Given the description of an element on the screen output the (x, y) to click on. 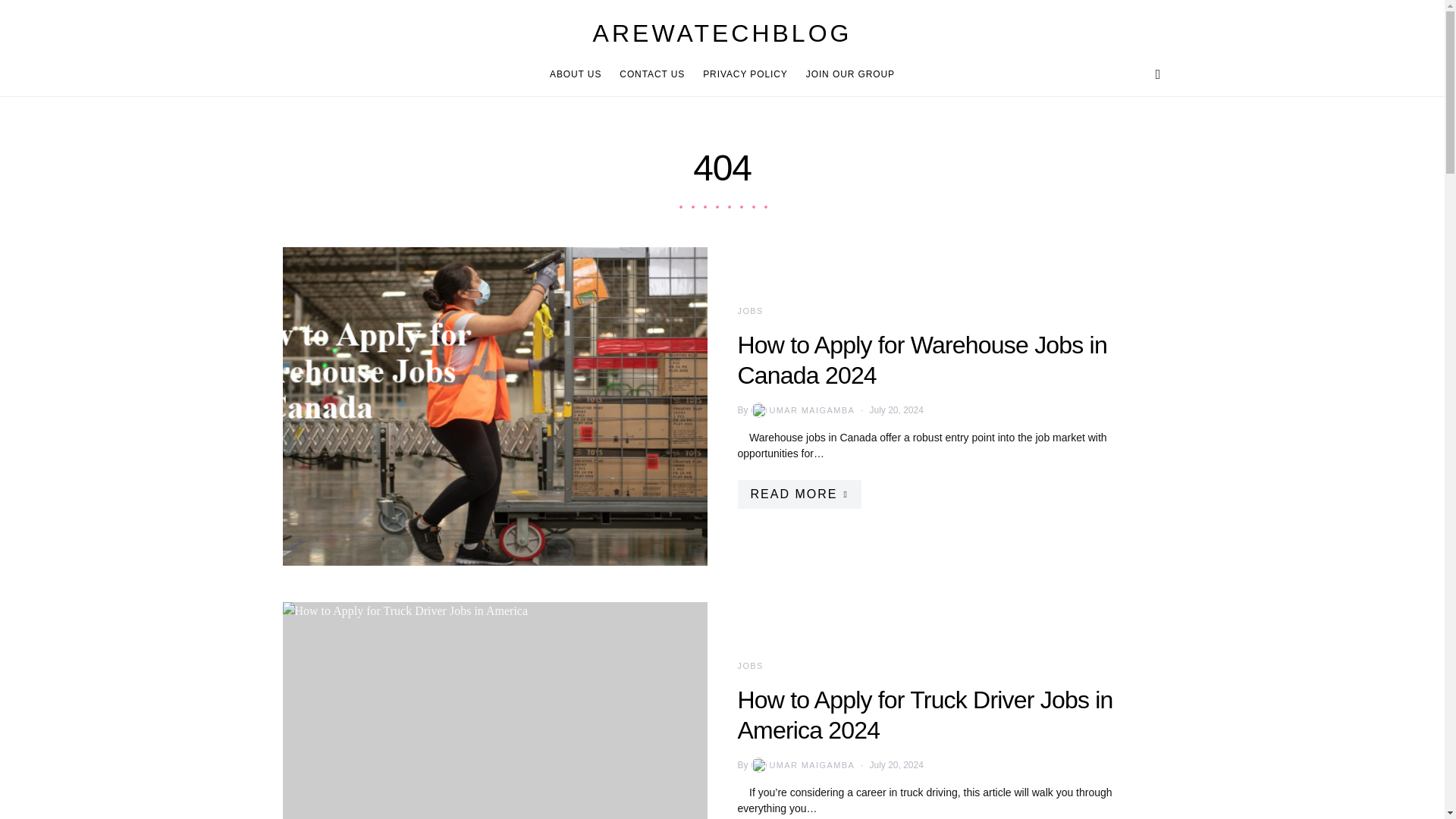
READ MORE (798, 493)
JOIN OUR GROUP (845, 74)
PRIVACY POLICY (745, 74)
UMAR MAIGAMBA (802, 409)
View all posts by Umar Maigamba (802, 409)
UMAR MAIGAMBA (802, 765)
How to Apply for Truck Driver Jobs in America 2024 (924, 714)
JOBS (749, 665)
How to Apply for Warehouse Jobs in Canada 2024 (921, 360)
AREWATECHBLOG (721, 33)
ABOUT US (580, 74)
View all posts by Umar Maigamba (802, 765)
CONTACT US (652, 74)
JOBS (749, 310)
